Given the description of an element on the screen output the (x, y) to click on. 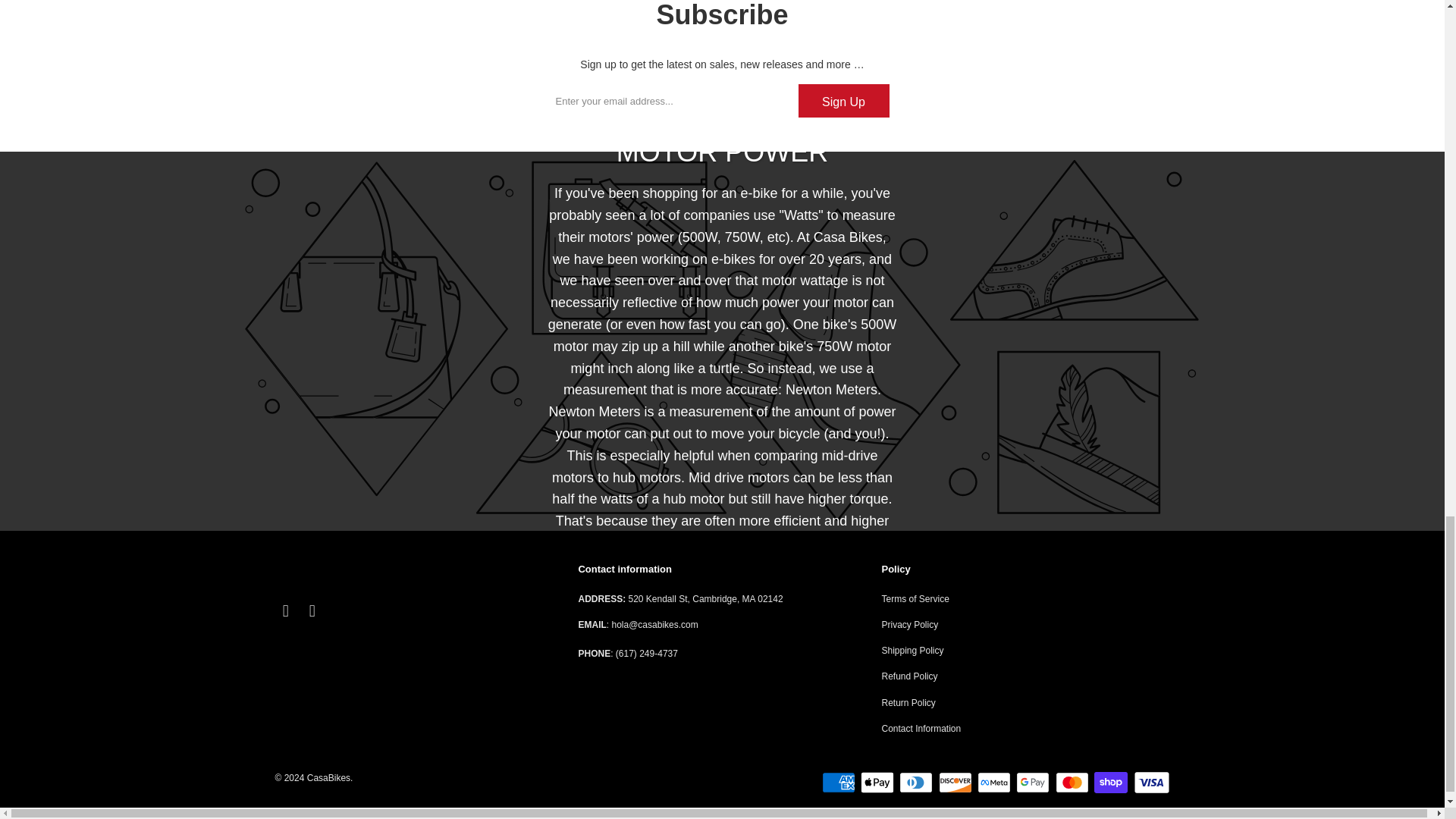
Mastercard (1073, 782)
CasaBikes on Instagram (312, 610)
Discover (957, 782)
CasaBikes on Facebook (286, 610)
Sign Up (842, 100)
Apple Pay (878, 782)
American Express (840, 782)
Shop Pay (1112, 782)
Meta Pay (994, 782)
Visa (1150, 782)
